Given the description of an element on the screen output the (x, y) to click on. 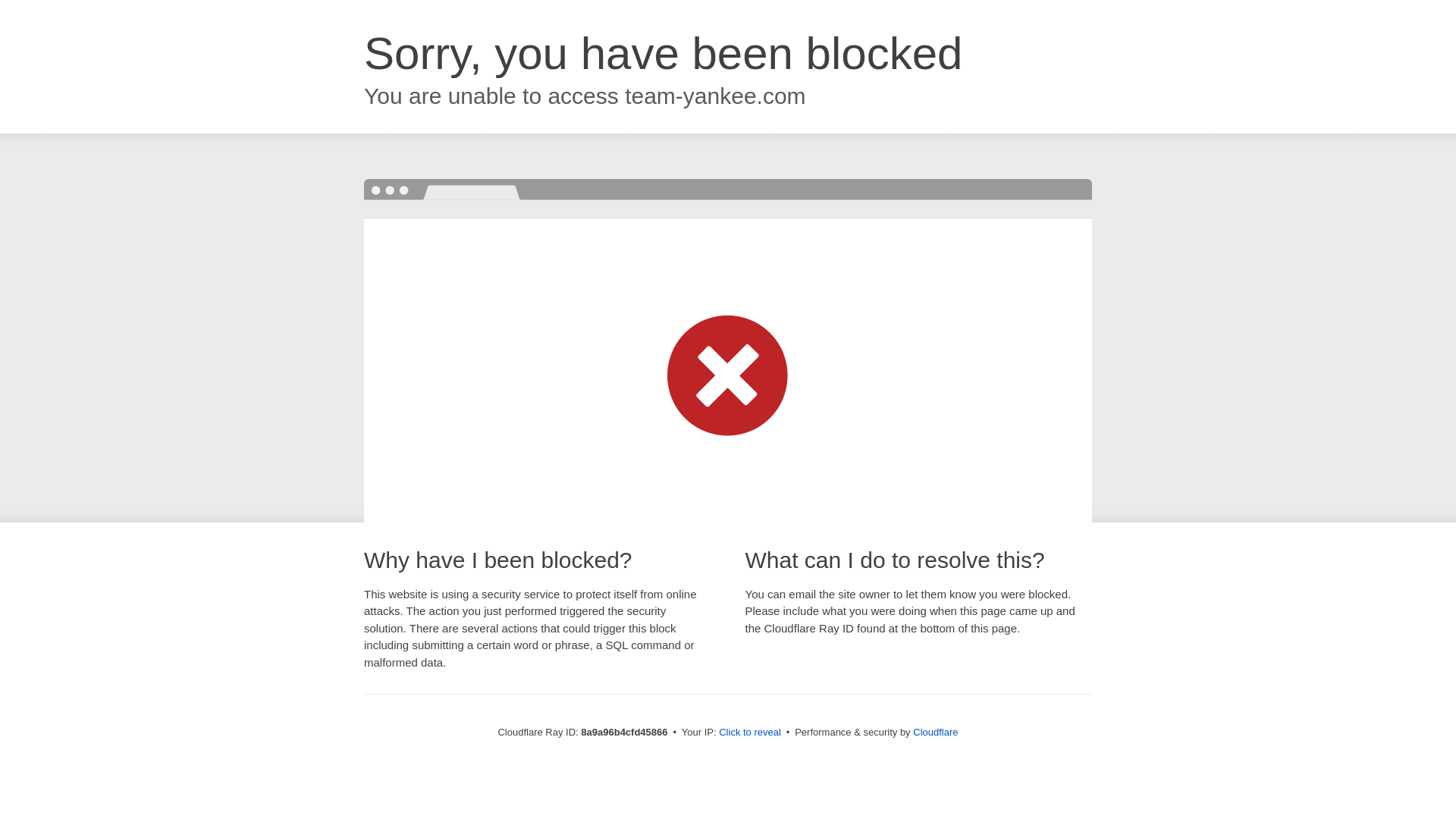
Cloudflare (935, 731)
Click to reveal (749, 732)
